Given the description of an element on the screen output the (x, y) to click on. 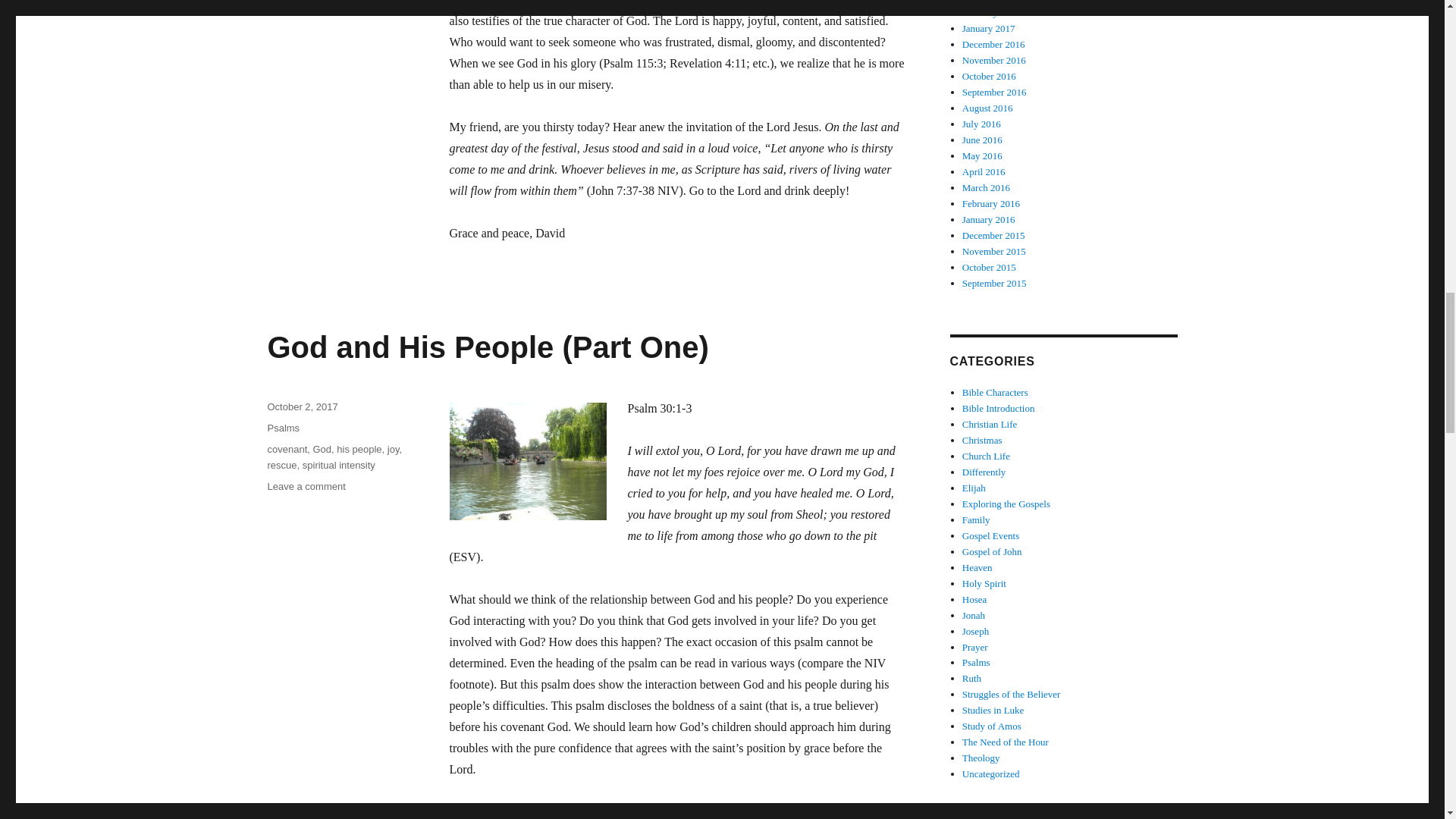
joy (392, 449)
his people (358, 449)
October 2, 2017 (301, 406)
Psalms (282, 428)
God (322, 449)
covenant (286, 449)
rescue (281, 464)
spiritual intensity (338, 464)
